Given the description of an element on the screen output the (x, y) to click on. 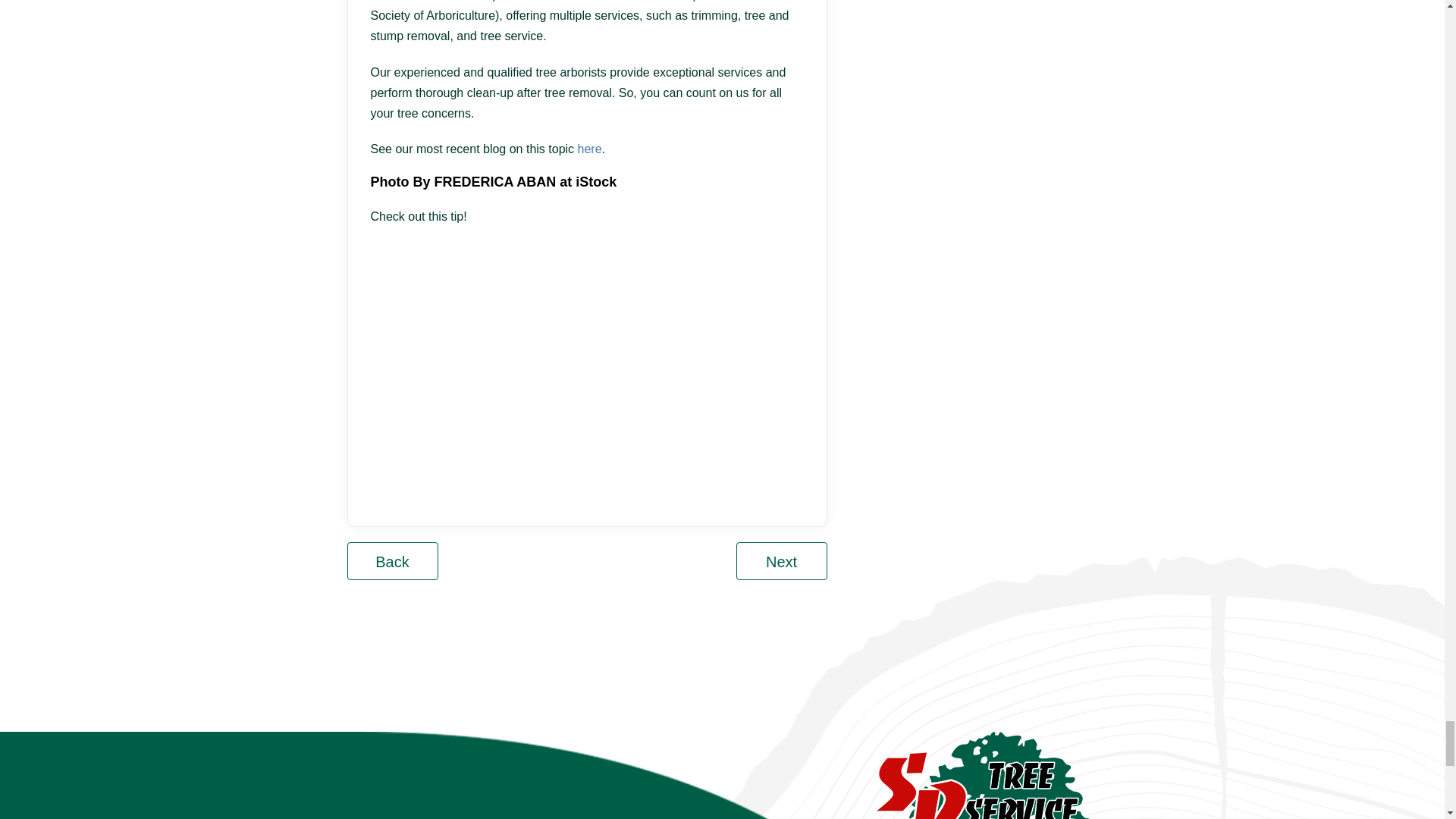
YouTube video player (581, 360)
